Given the description of an element on the screen output the (x, y) to click on. 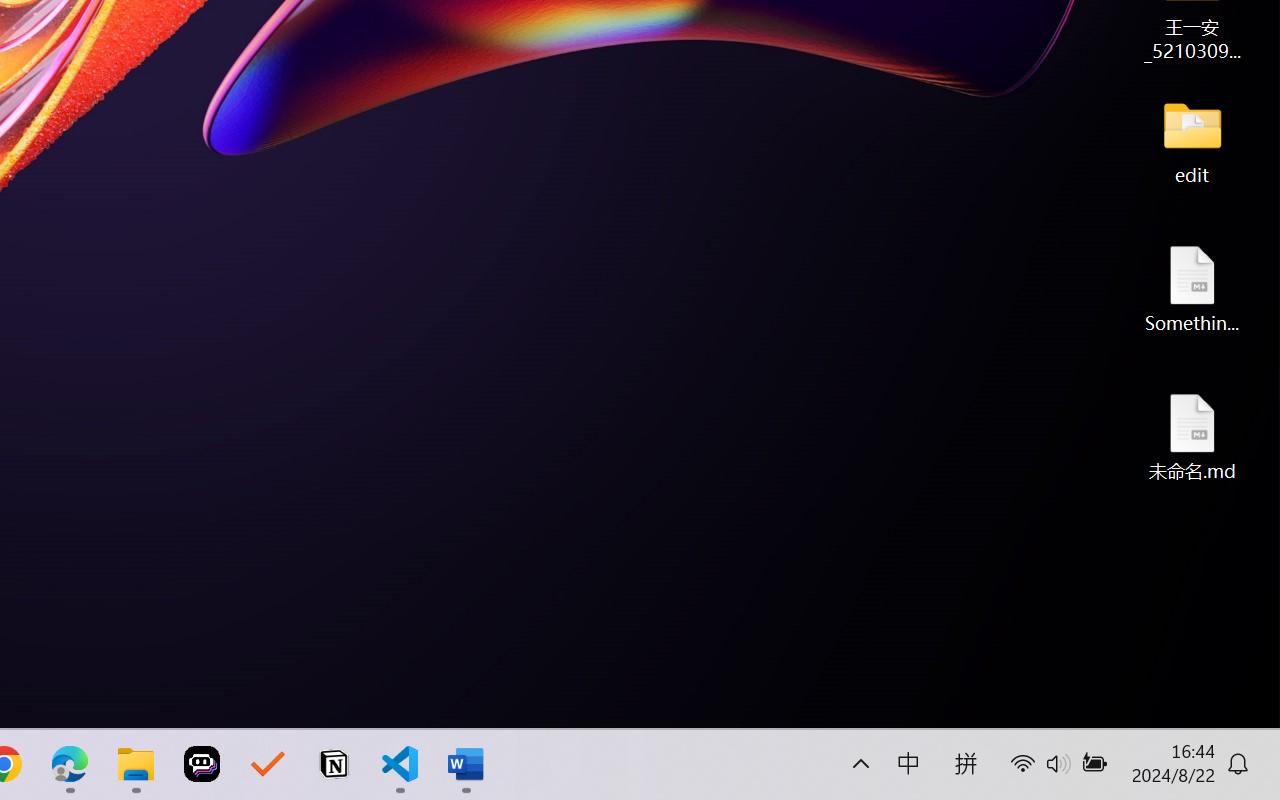
Something.md (1192, 288)
edit (1192, 140)
